Given the description of an element on the screen output the (x, y) to click on. 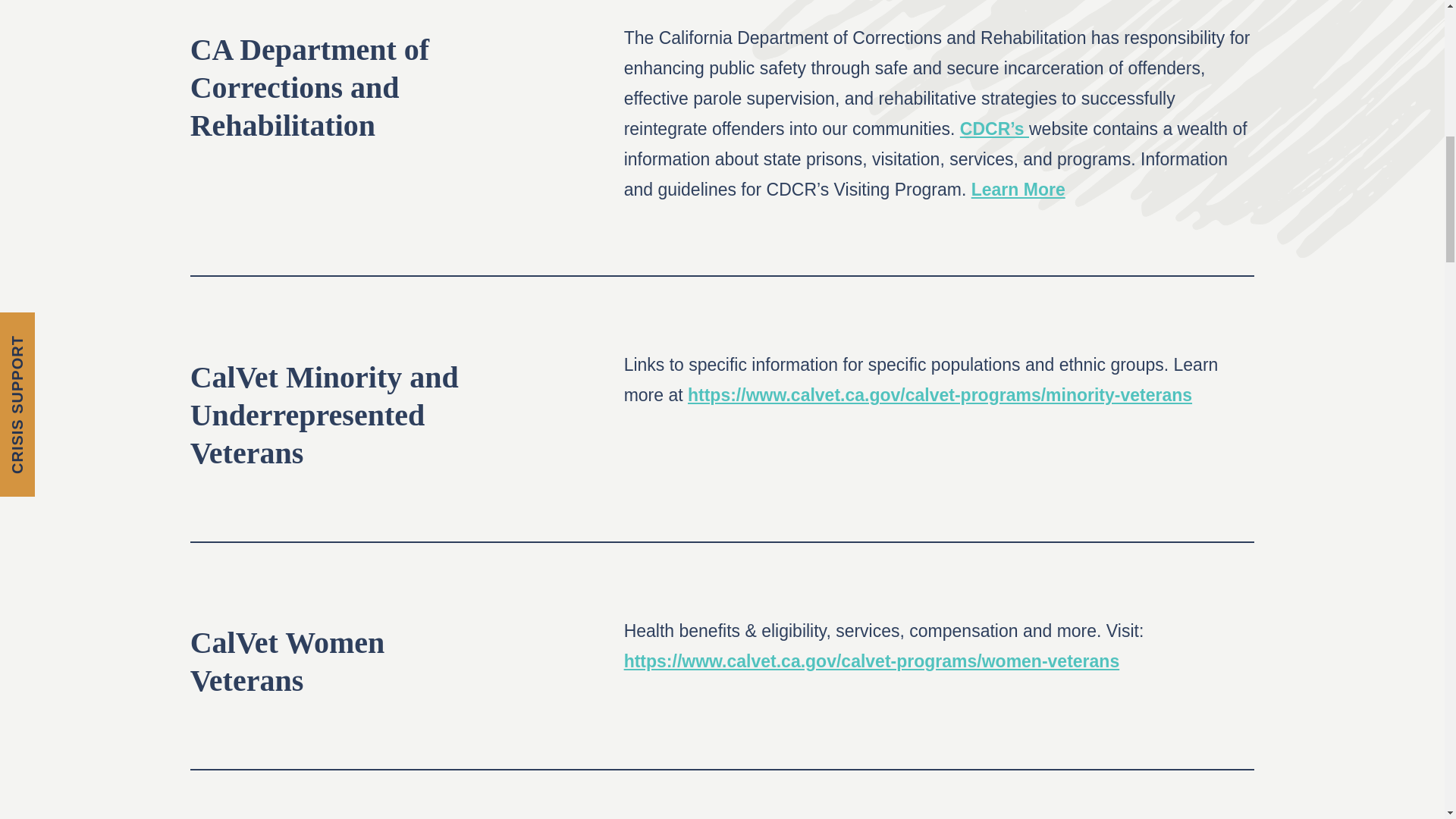
CalVet Women Veterans (287, 661)
CA Department of Corrections and Rehabilitation (309, 87)
Learn More (1018, 189)
CalVet Minority and Underrepresented Veterans (324, 414)
